Given the description of an element on the screen output the (x, y) to click on. 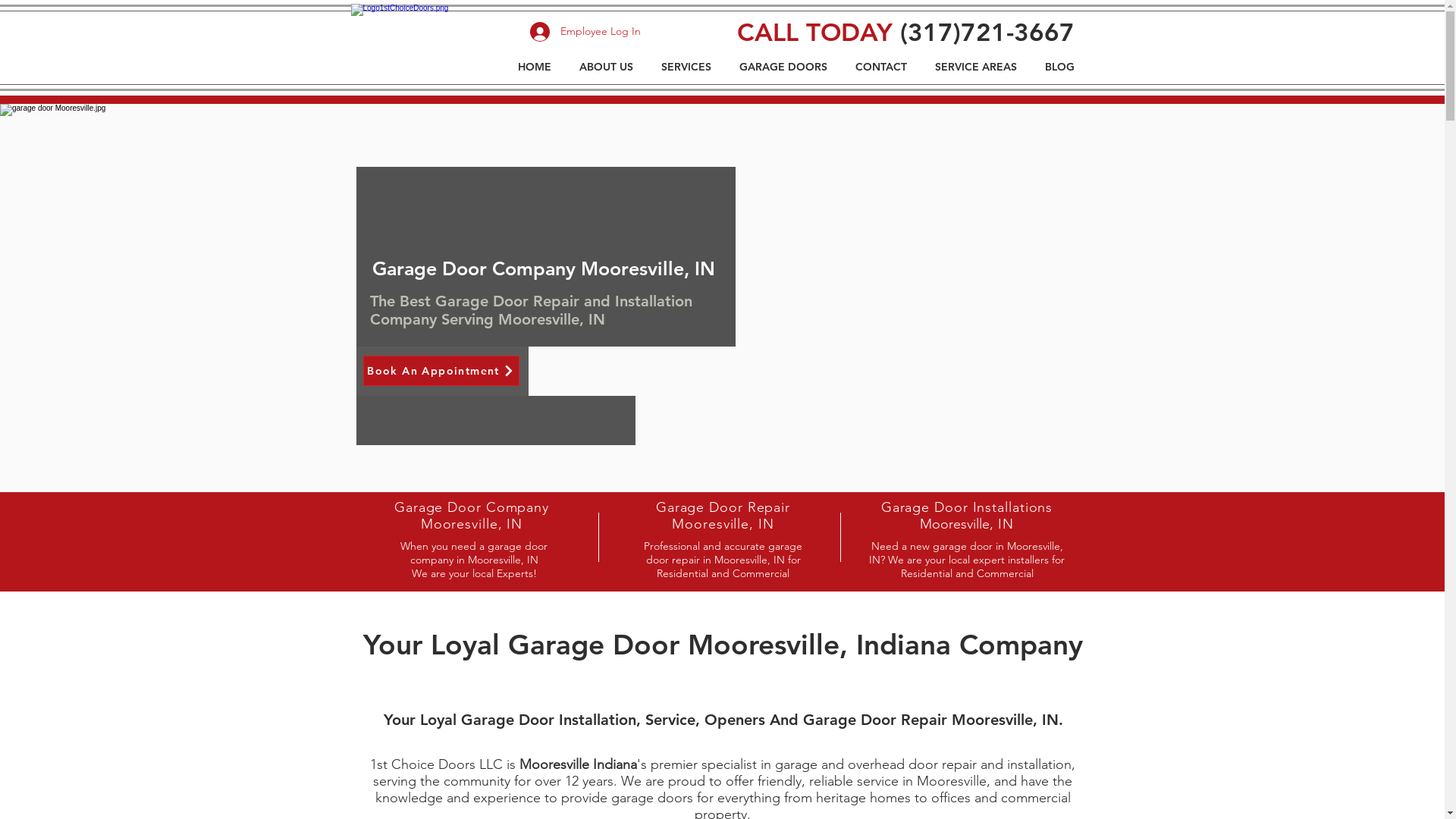
BLOG Element type: text (1059, 66)
Garage Door Installations Mooresville Element type: text (967, 515)
ABOUT US Element type: text (606, 66)
garage door company Element type: hover (424, 47)
HOME Element type: text (534, 66)
Garage Door Company Element type: text (471, 506)
Garage Door Repair Element type: text (722, 506)
Book An Appointment Element type: text (440, 370)
CALL TODAY (317)721-3667 Element type: text (905, 31)
CONTACT Element type: text (881, 66)
Employee Log In Element type: text (584, 31)
